Given the description of an element on the screen output the (x, y) to click on. 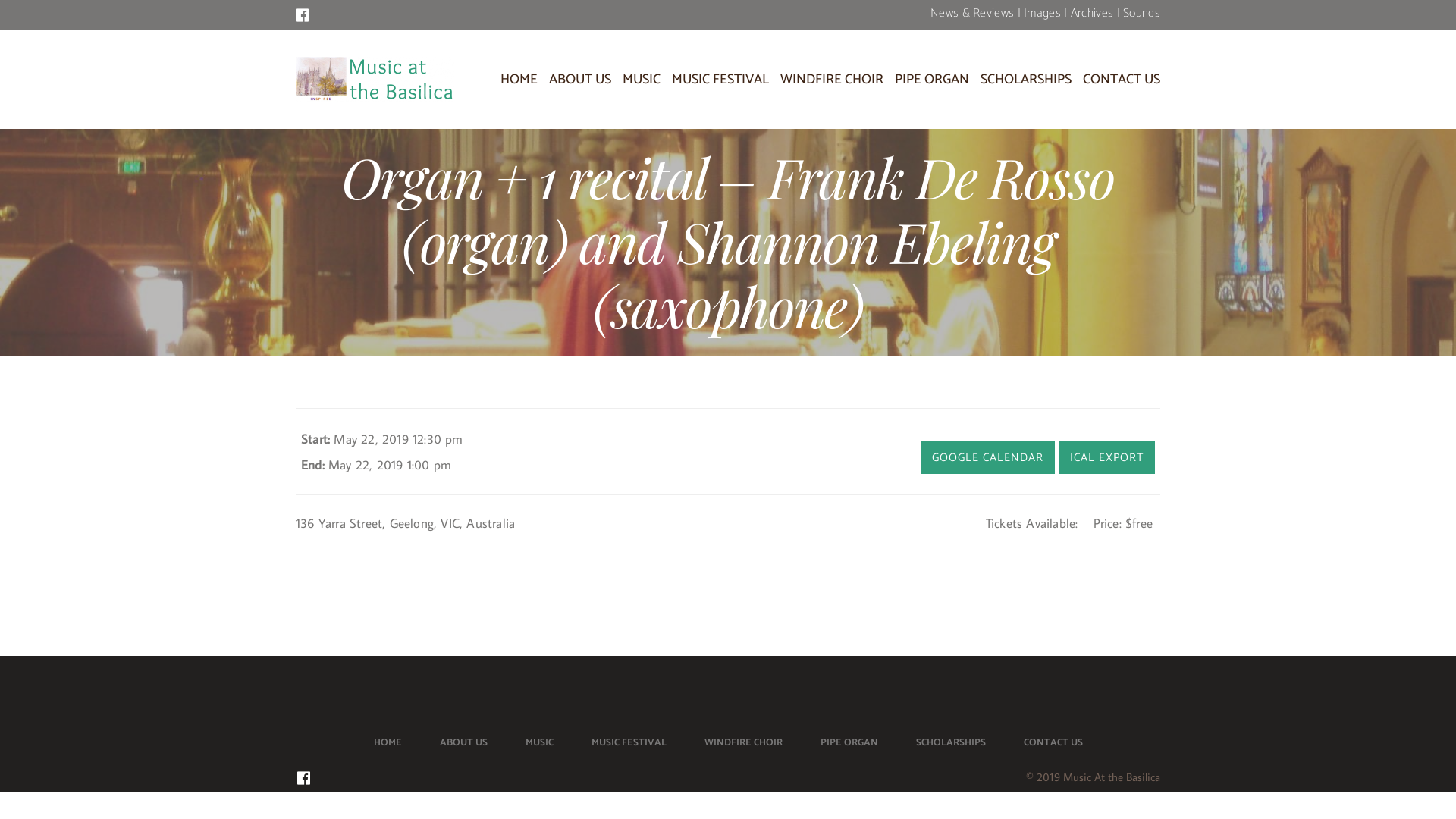
CONTACT US Element type: text (1121, 79)
PIPE ORGAN Element type: text (849, 743)
HOME Element type: text (518, 79)
WINDFIRE CHOIR Element type: text (831, 79)
CONTACT US Element type: text (1052, 743)
ABOUT US Element type: text (463, 743)
Images Element type: text (1041, 13)
News & Reviews Element type: text (971, 13)
ICAL EXPORT Element type: text (1106, 457)
SCHOLARSHIPS Element type: text (1025, 79)
HOME Element type: text (387, 743)
Archives Element type: text (1091, 13)
ABOUT US Element type: text (580, 79)
MUSIC FESTIVAL Element type: text (628, 743)
PIPE ORGAN Element type: text (931, 79)
MUSIC FESTIVAL Element type: text (719, 79)
Sounds Element type: text (1141, 13)
MUSIC Element type: text (538, 743)
SCHOLARSHIPS Element type: text (950, 743)
GOOGLE CALENDAR Element type: text (987, 457)
MUSIC Element type: text (641, 79)
WINDFIRE CHOIR Element type: text (742, 743)
